Given the description of an element on the screen output the (x, y) to click on. 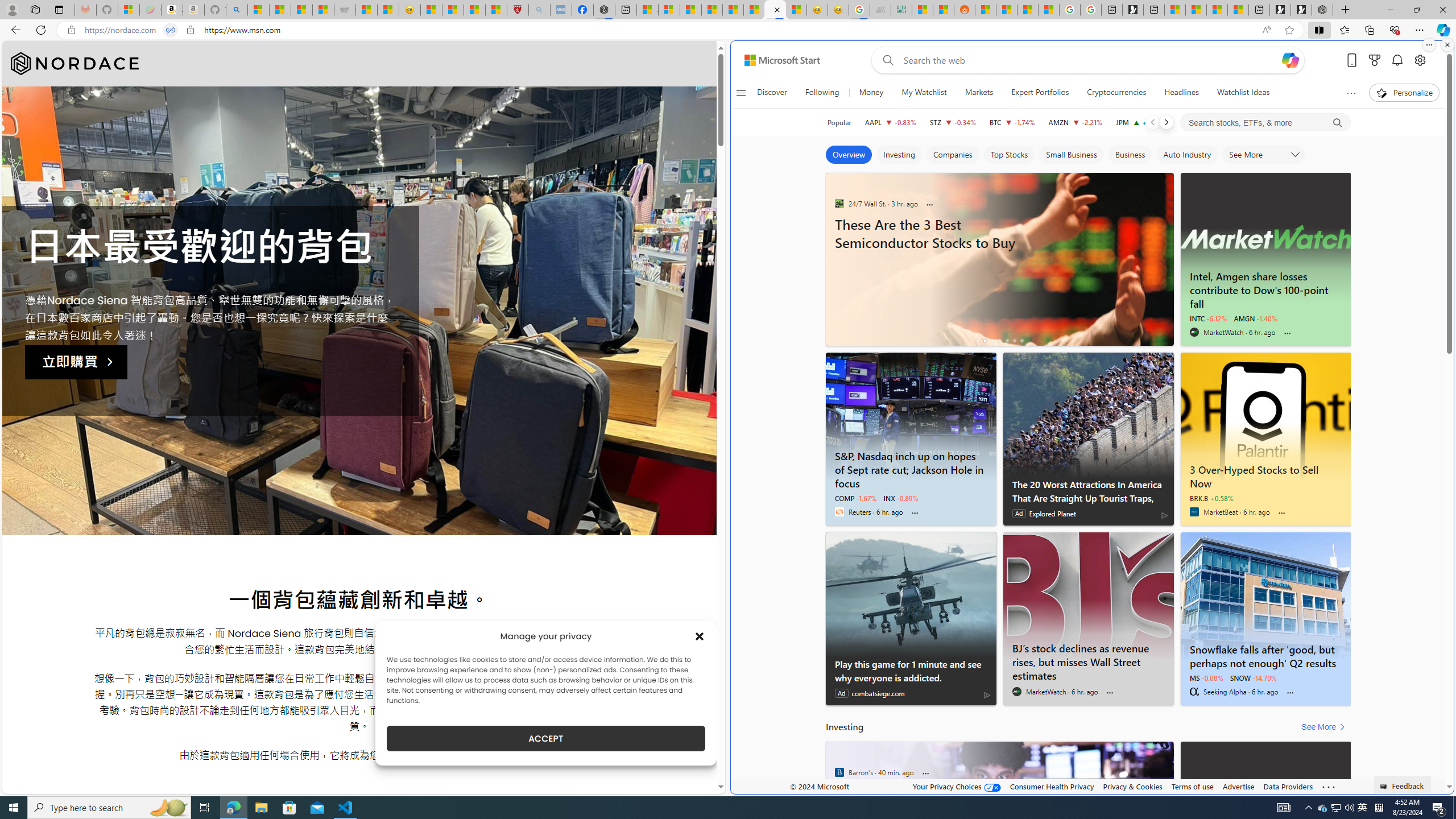
Tabs in split screen (170, 29)
Reuters (839, 511)
Skip to footer (775, 59)
12 Popular Science Lies that Must be Corrected (496, 9)
Money (871, 92)
Markets (977, 92)
